Given the description of an element on the screen output the (x, y) to click on. 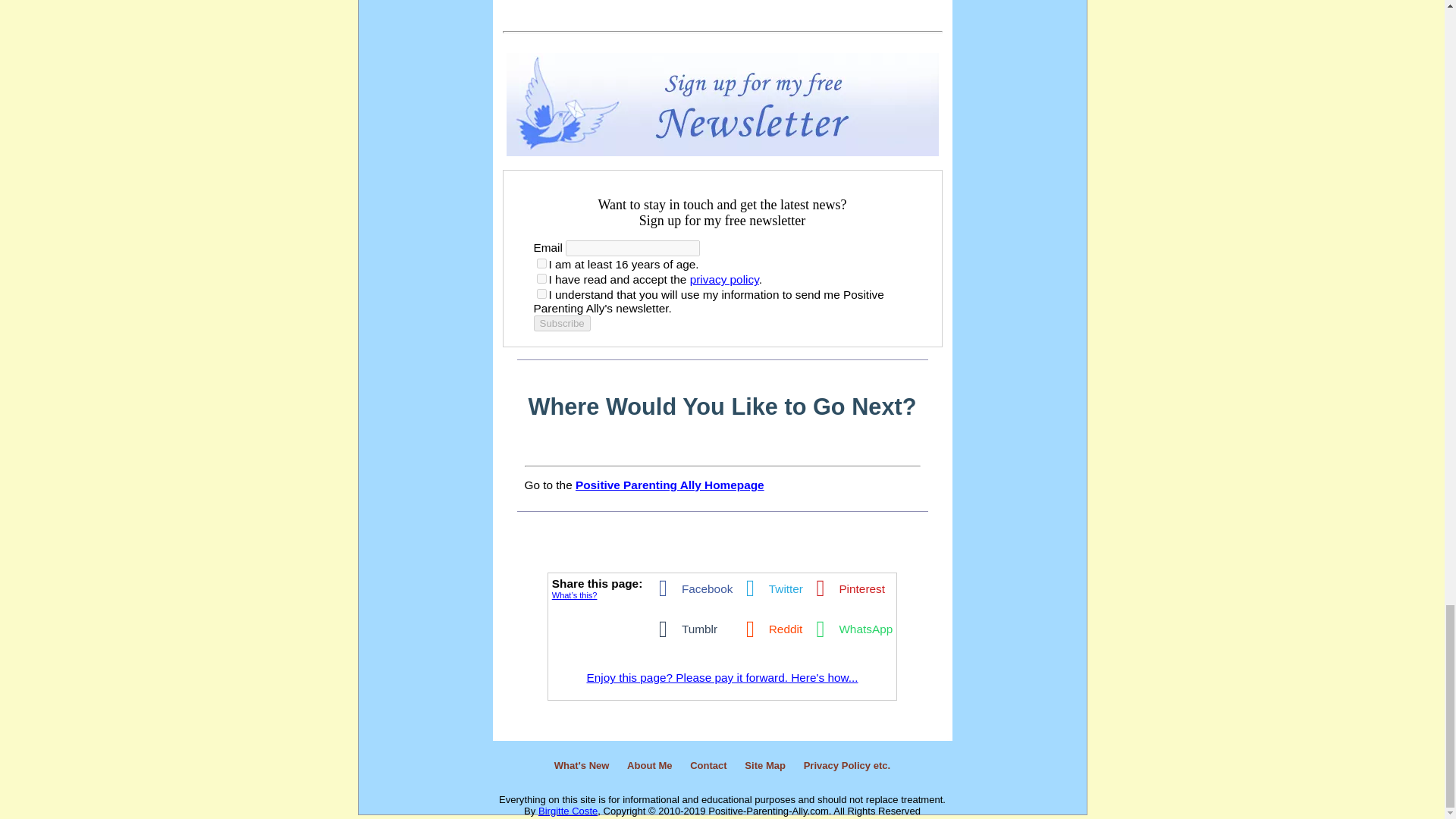
Reddit (768, 628)
Pinterest (845, 587)
Twitter (769, 587)
WhatsApp (849, 628)
Enjoy this page? Please pay it forward. Here's how... (721, 676)
on (542, 263)
on (542, 293)
privacy policy (724, 278)
Tumblr (683, 628)
on (542, 278)
